Given the description of an element on the screen output the (x, y) to click on. 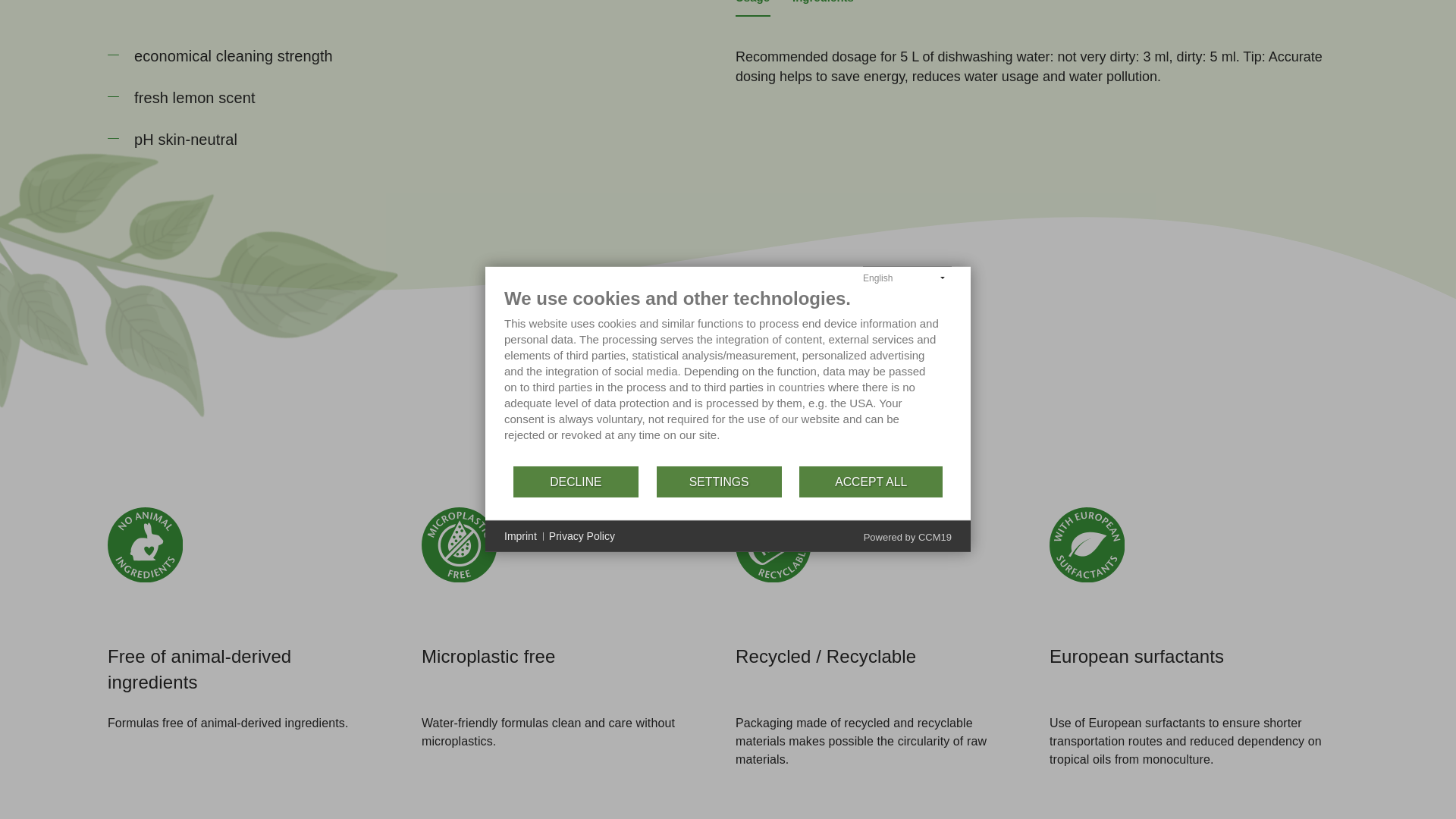
Usage (752, 3)
Ingredients (822, 3)
